Given the description of an element on the screen output the (x, y) to click on. 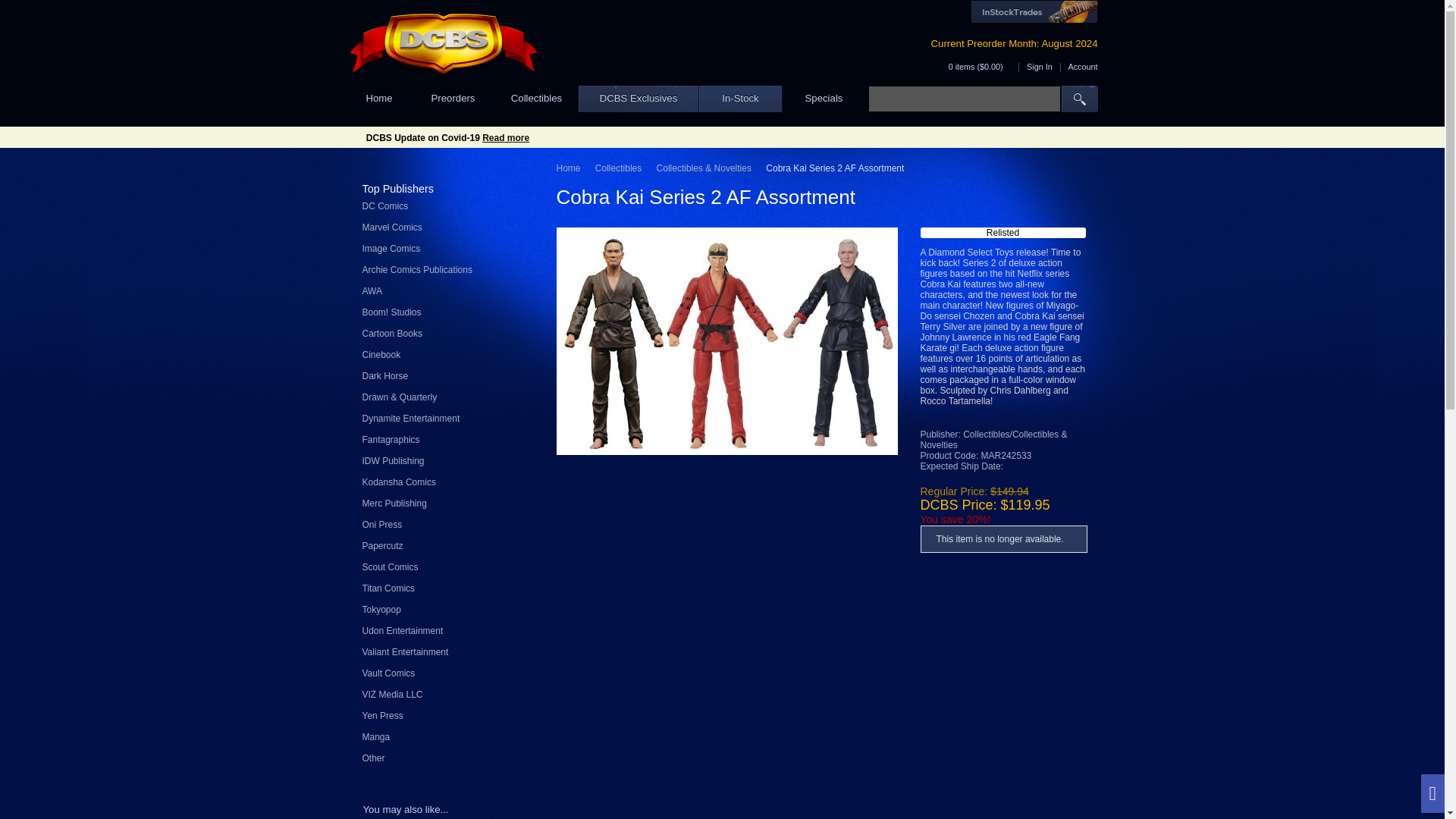
Preorders (452, 99)
Home (379, 99)
Sign In (1039, 66)
Account (1082, 66)
InStockTrades (1034, 12)
